Given the description of an element on the screen output the (x, y) to click on. 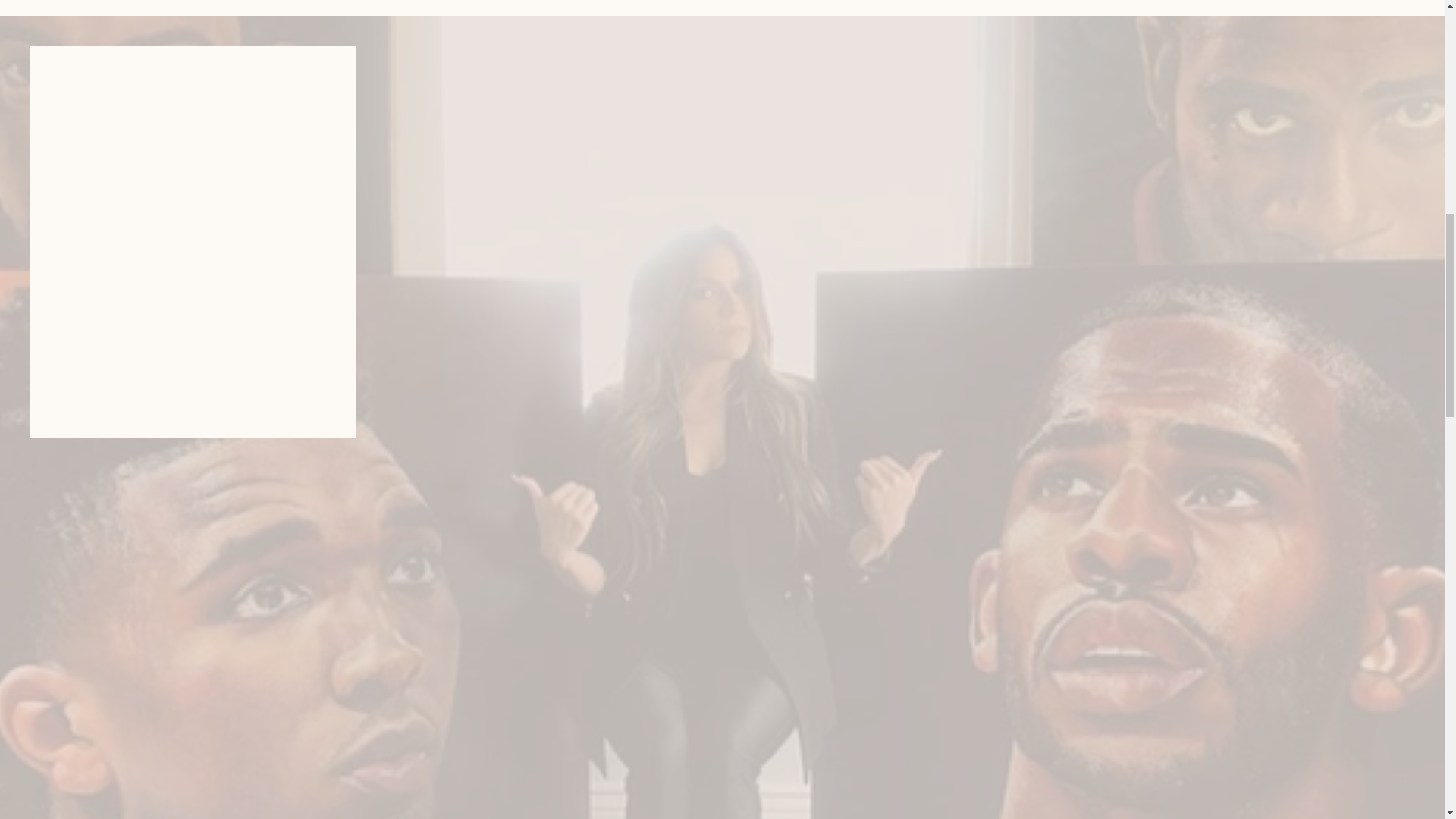
MENU (162, 46)
